Given the description of an element on the screen output the (x, y) to click on. 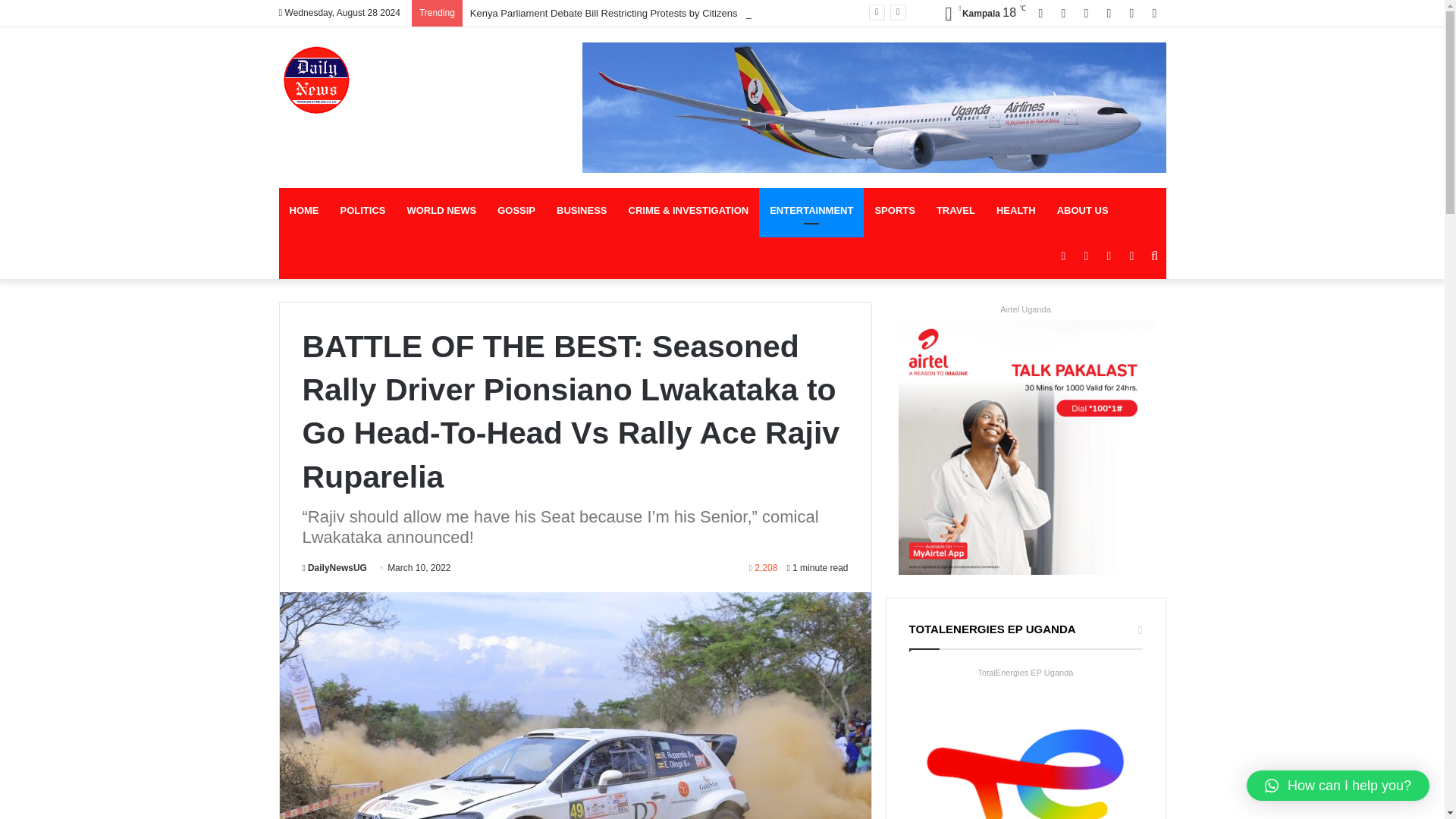
DailyNewsUG (333, 567)
TRAVEL (955, 210)
ABOUT US (1082, 210)
HOME (304, 210)
Airtel Uganda (1025, 309)
DailyNewsUG (333, 567)
Light Rain (980, 13)
POLITICS (362, 210)
SPORTS (893, 210)
HEALTH (1015, 210)
